Given the description of an element on the screen output the (x, y) to click on. 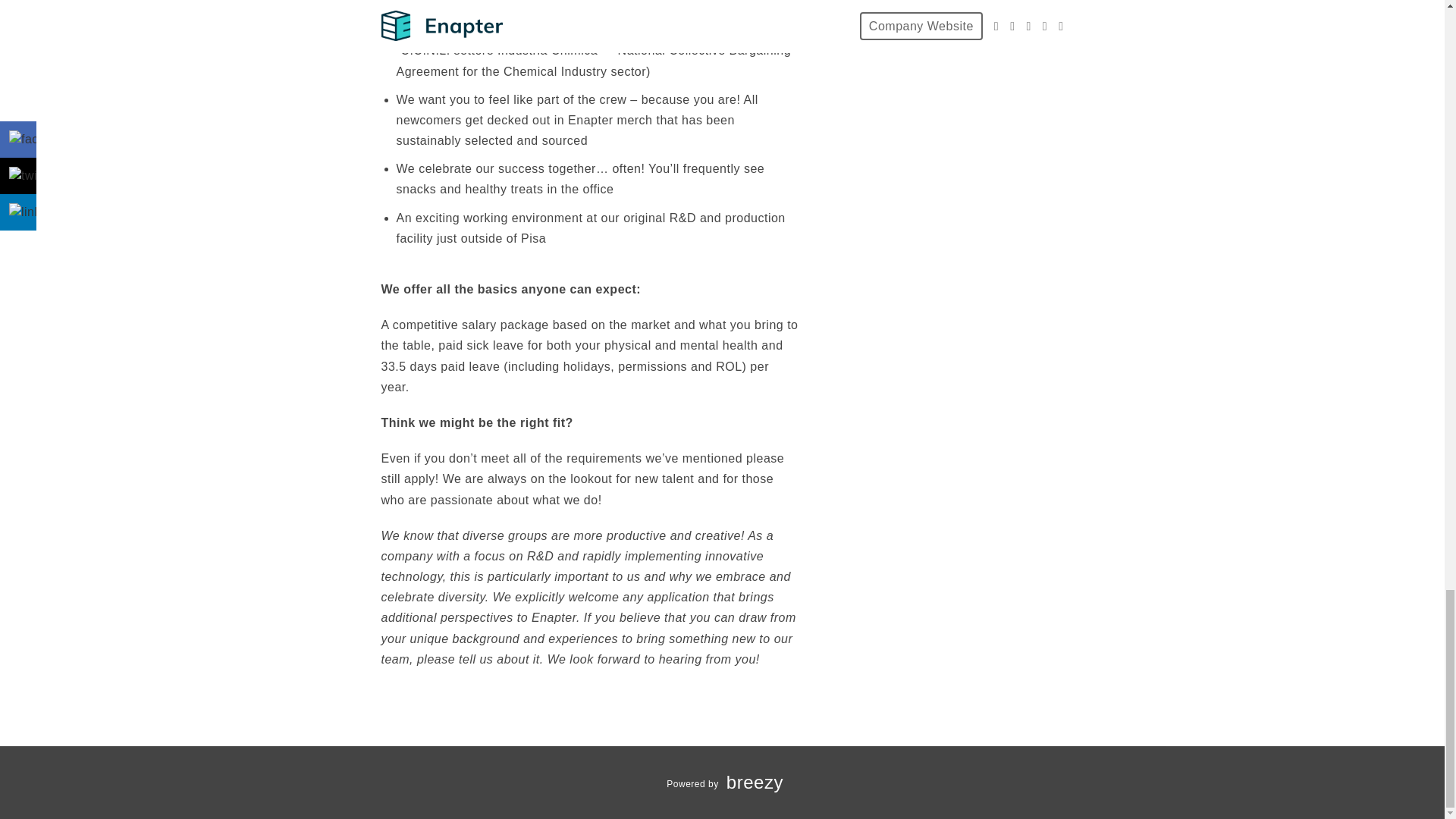
Powered bybreezy (722, 784)
